Given the description of an element on the screen output the (x, y) to click on. 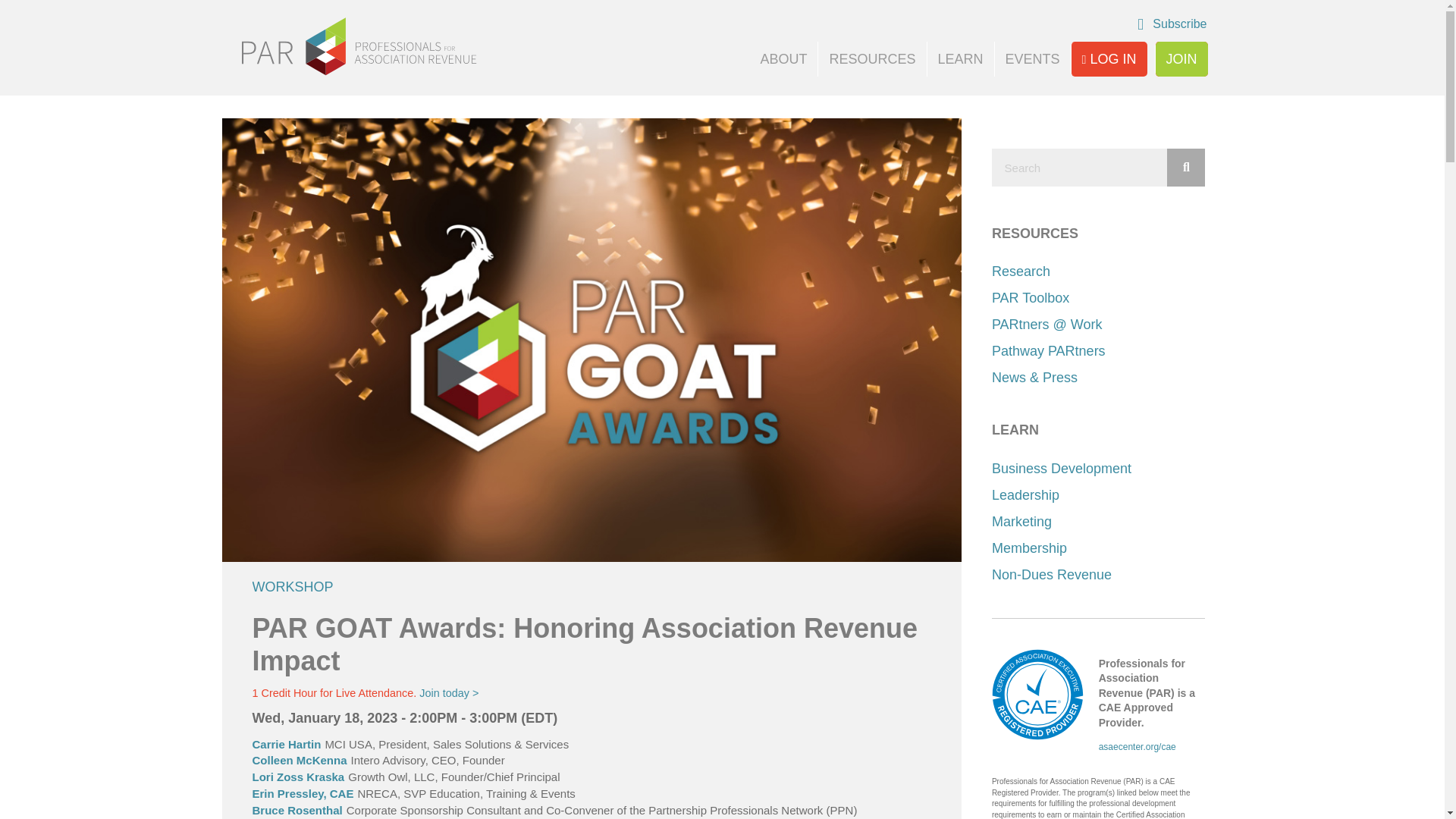
WORKSHOP (292, 586)
ABOUT (782, 58)
LOG IN (1109, 58)
LEARN (959, 58)
Search (1079, 167)
PAR-logo-horiz (358, 45)
Colleen McKenna (298, 759)
Subscribe (1171, 24)
EVENTS (1032, 58)
Lori Zoss Kraska (297, 776)
Carrie Hartin (285, 744)
RESOURCES (872, 58)
CAE-logo-approved (1037, 695)
JOIN (1182, 58)
